Given the description of an element on the screen output the (x, y) to click on. 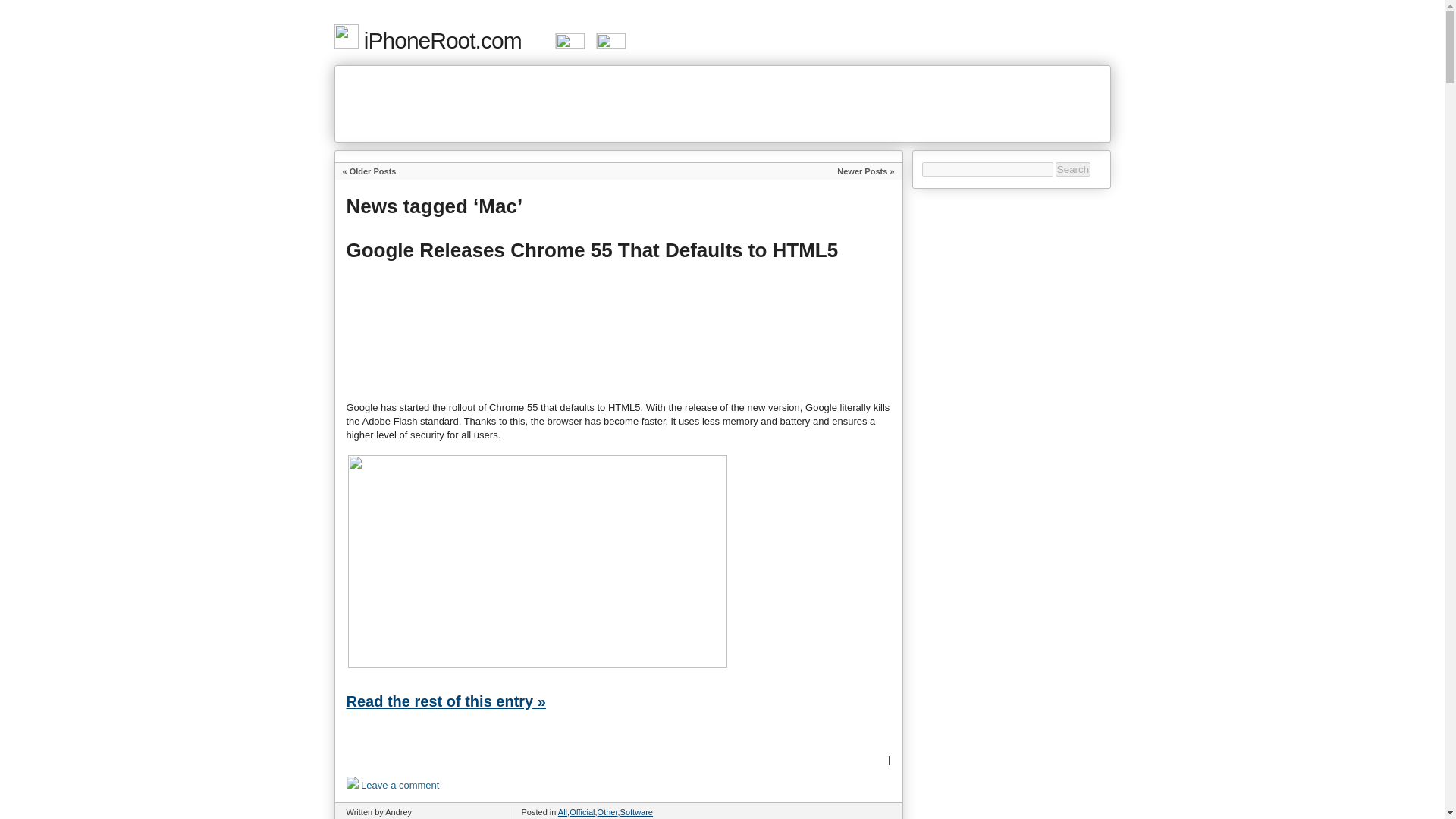
All (562, 811)
Leave a comment (395, 786)
iPhoneRoot.com (427, 40)
Search (1072, 169)
Google Releases Chrome 55 That Defaults to HTML5 (592, 250)
View all posts in Software (636, 811)
View all posts in Other (606, 811)
Official (581, 811)
View all posts in Official (581, 811)
View all posts in All (562, 811)
Software (636, 811)
Other (606, 811)
